Given the description of an element on the screen output the (x, y) to click on. 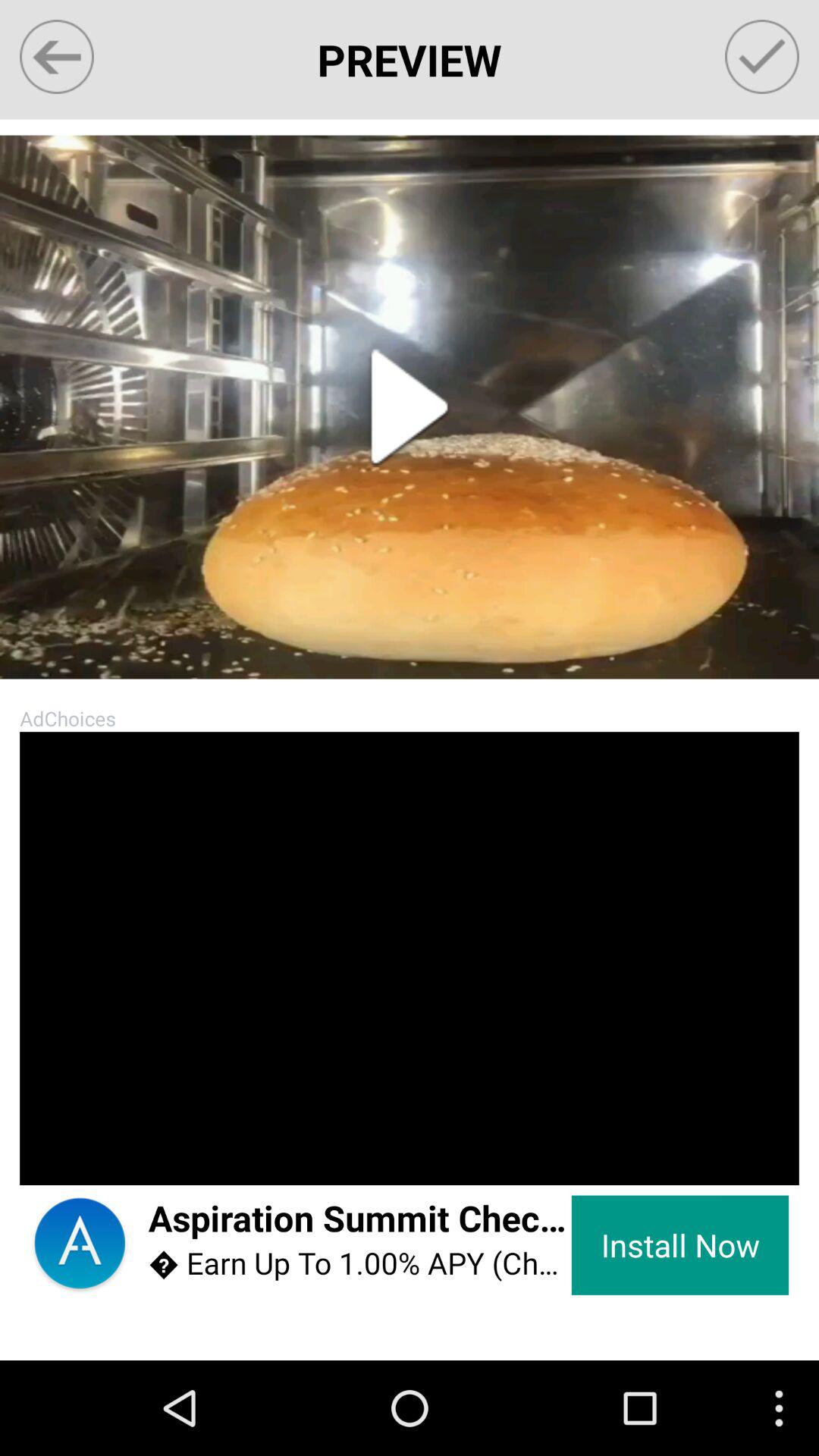
tap app below adchoices app (47, 1156)
